Given the description of an element on the screen output the (x, y) to click on. 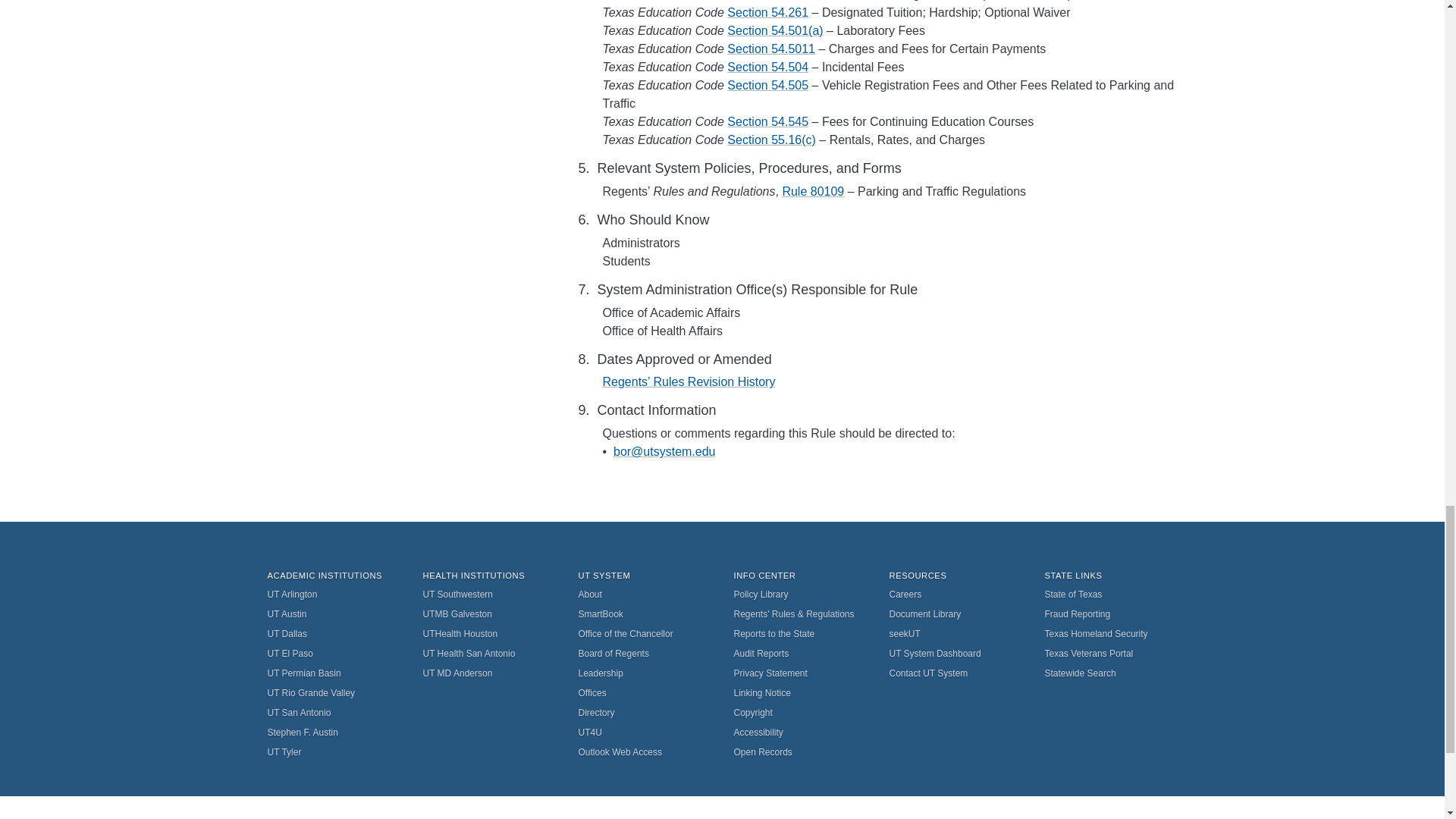
Section 54.505 (767, 84)
Section 54.5011 (770, 48)
UT Health Science Center at Houston (489, 633)
Section 54.545 (767, 121)
Section 54.261 (767, 11)
UT Health Science Center at San Antonio (489, 653)
Regents' Rules Revision History (688, 381)
Section 54.504 (767, 66)
Rule 80109: Parking and Traffic Regulations   (812, 191)
